Given the description of an element on the screen output the (x, y) to click on. 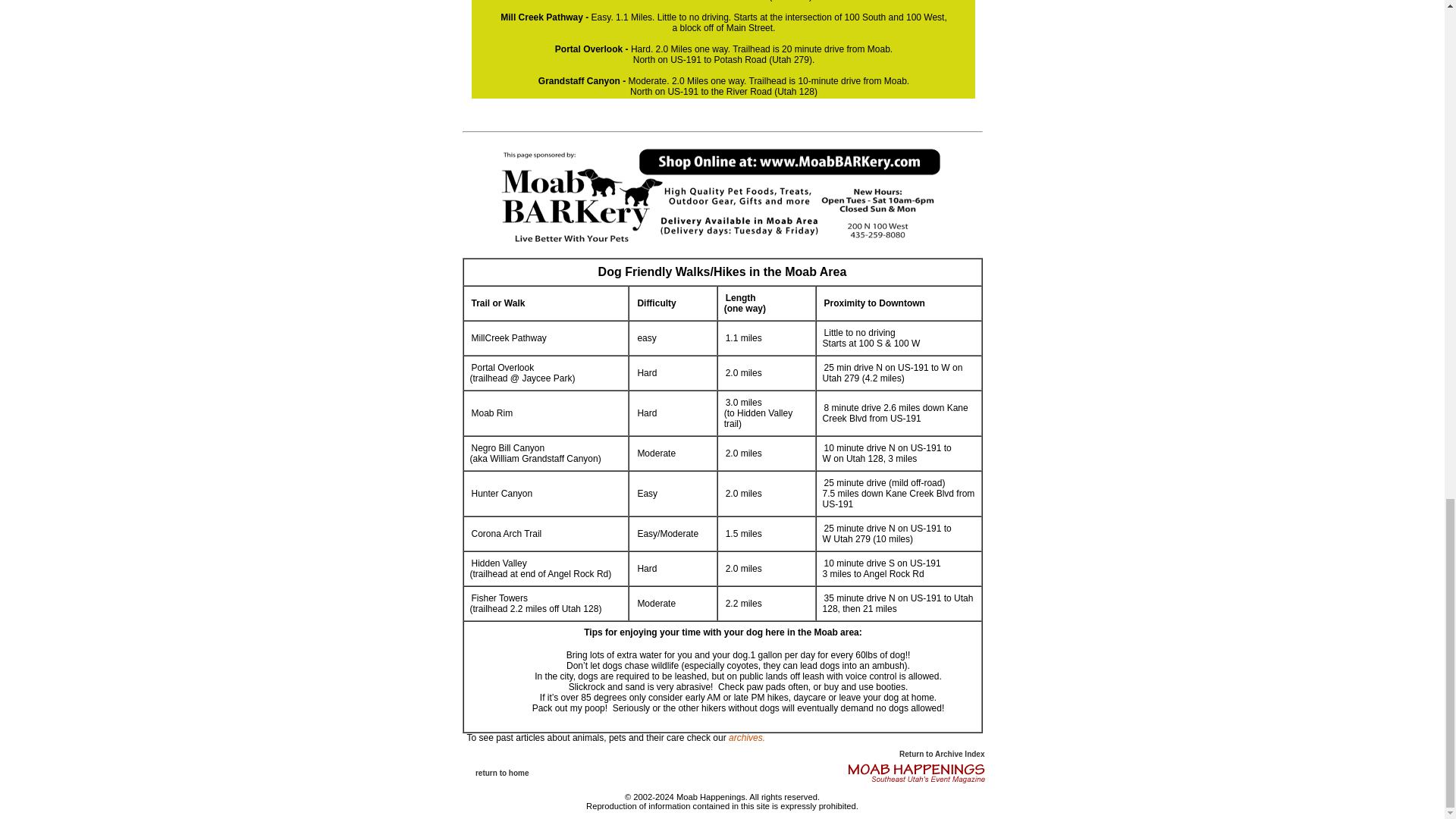
Return to Archive Index (941, 754)
return to home (502, 773)
archives (745, 737)
